Given the description of an element on the screen output the (x, y) to click on. 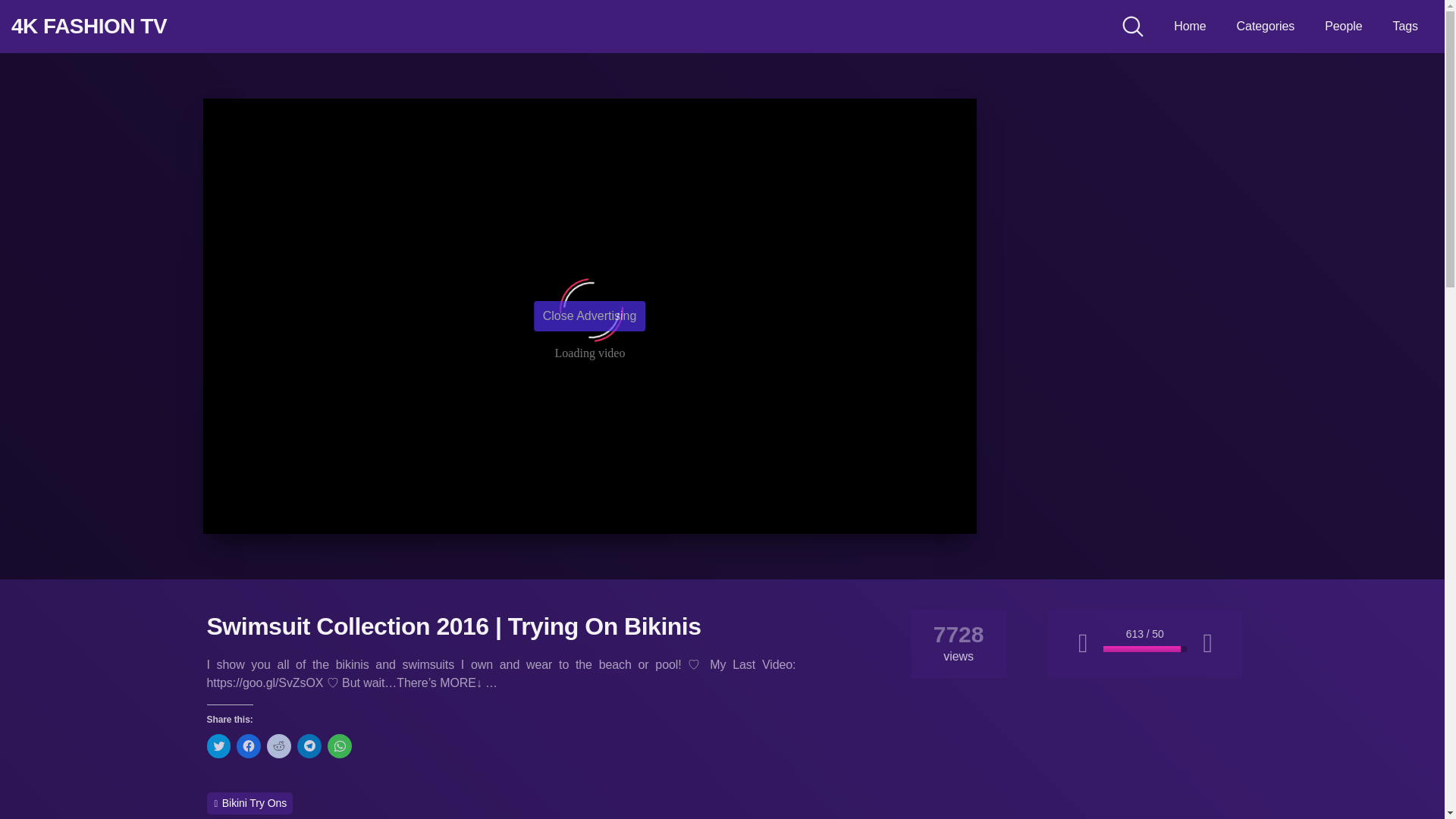
Click to share on Telegram (309, 745)
Tags (1405, 26)
Close Advertising (590, 316)
Click to share on Twitter (218, 745)
Click to share on Reddit (278, 745)
Home (1189, 26)
Categories (1265, 26)
4K Fashion TV (89, 26)
Click to share on Facebook (247, 745)
Click to share on WhatsApp (339, 745)
People (1343, 26)
Tags (1405, 26)
Bikini Try Ons (249, 803)
Categories (1265, 26)
4K FASHION TV (89, 26)
